Given the description of an element on the screen output the (x, y) to click on. 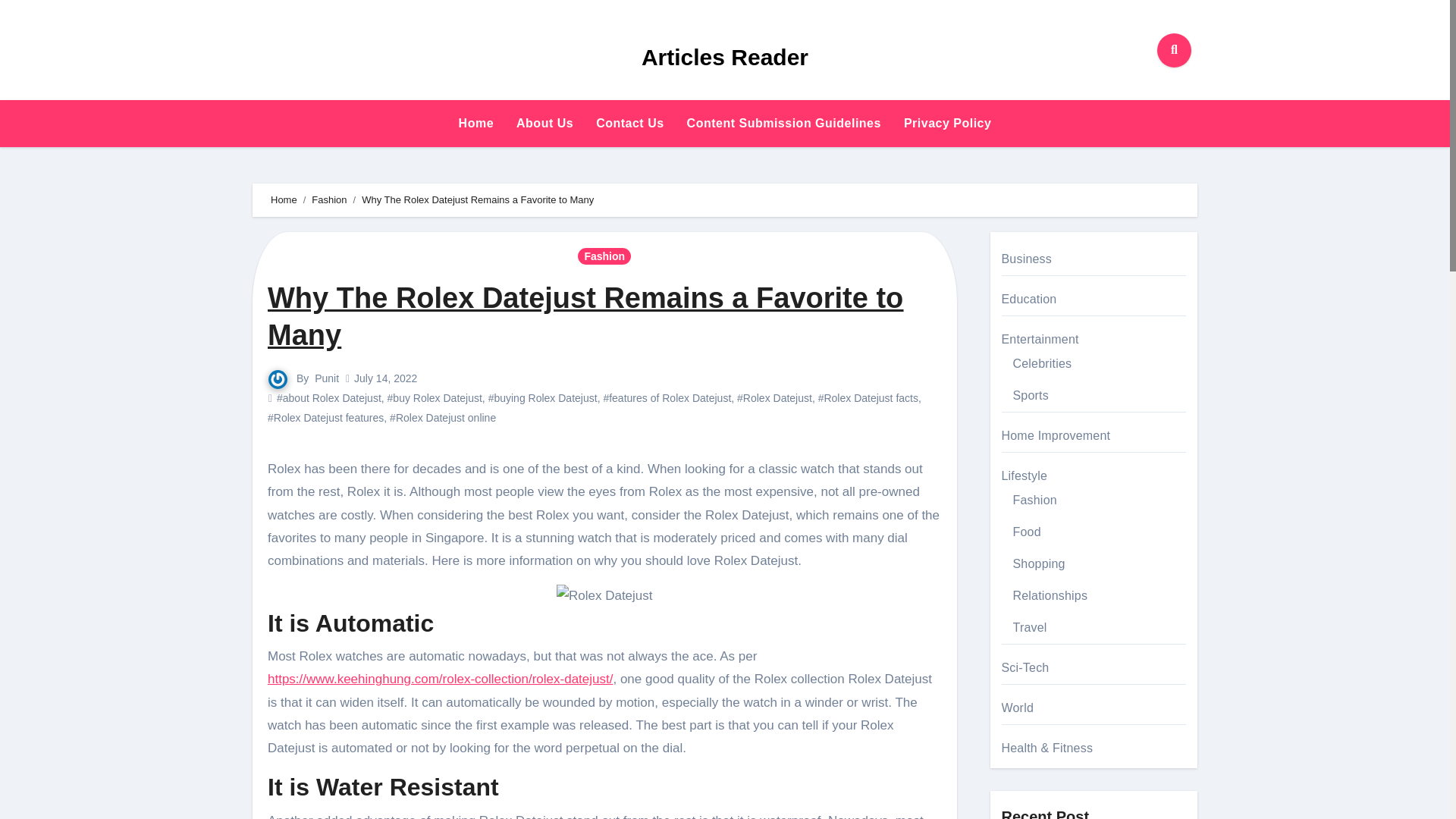
Articles Reader (725, 57)
Contact Us (630, 123)
Home (283, 199)
Why The Rolex Datejust Remains a Favorite to Many (584, 316)
Fashion (604, 256)
Home (475, 123)
Fashion (328, 199)
Home (475, 123)
Content Submission Guidelines (783, 123)
